Given the description of an element on the screen output the (x, y) to click on. 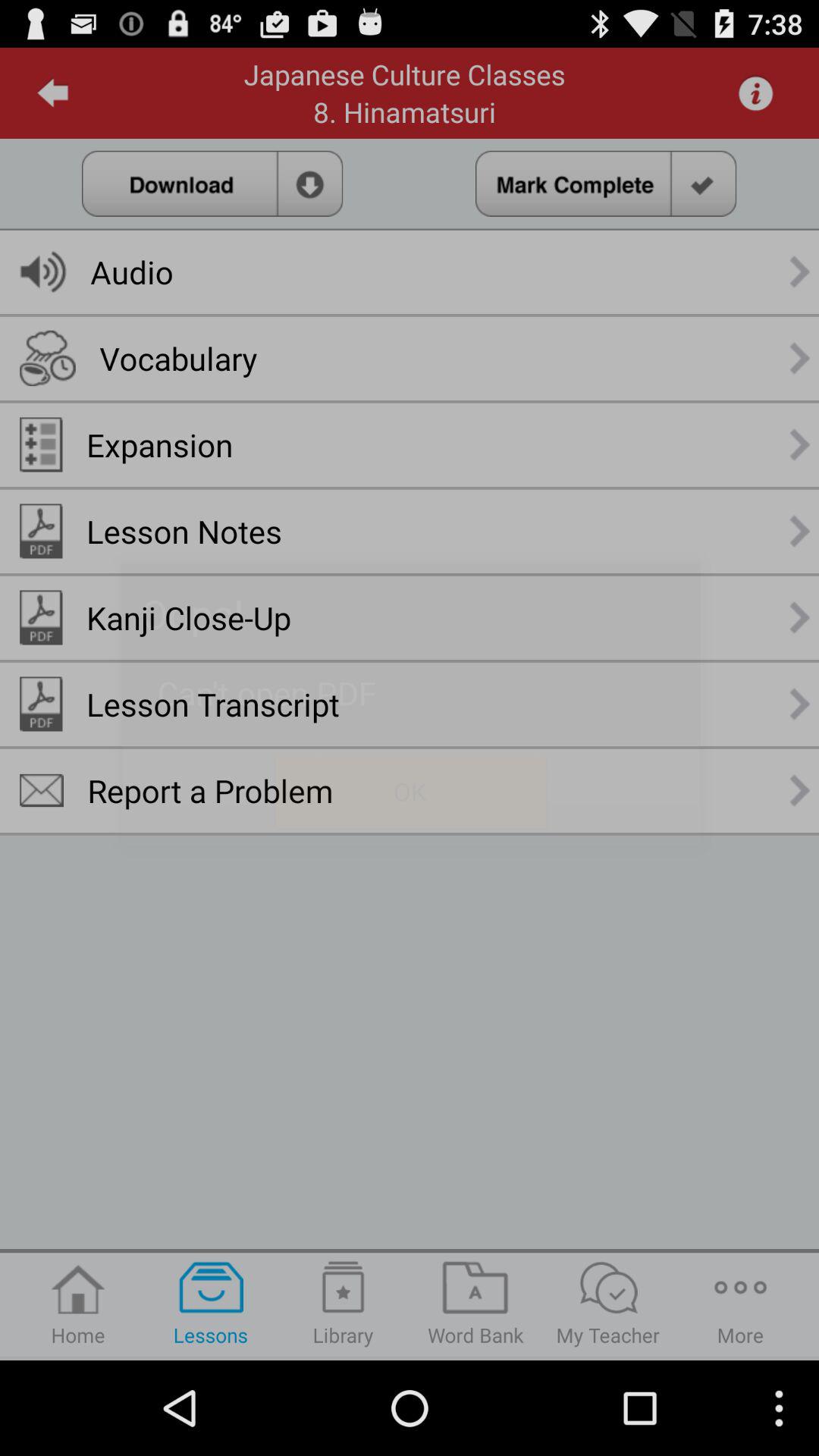
jump until the kanji close-up (188, 617)
